Given the description of an element on the screen output the (x, y) to click on. 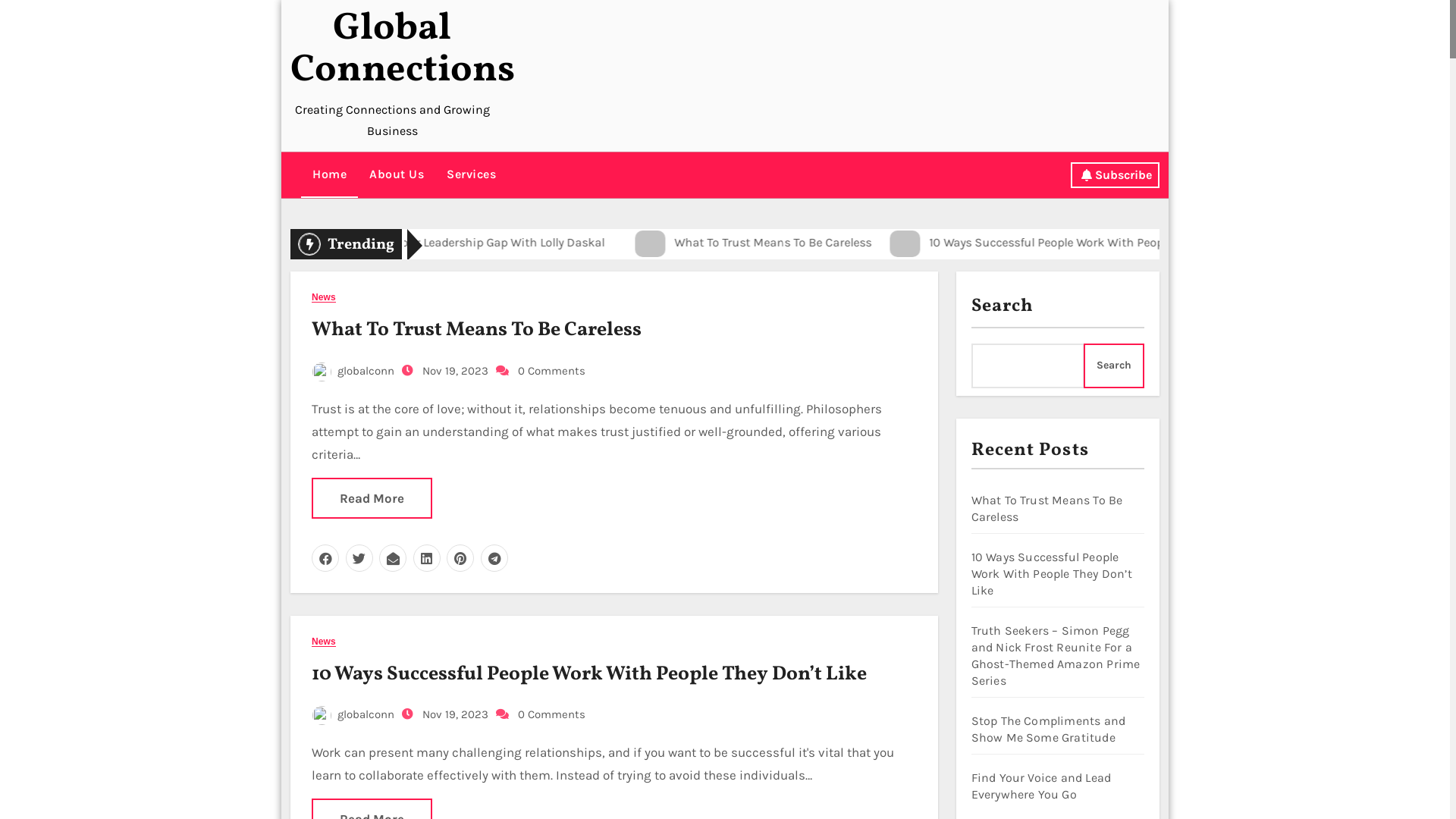
Nov 19, 2023 Element type: text (453, 714)
Global Connections Element type: text (402, 49)
Subscribe Element type: text (1114, 175)
News Element type: text (323, 641)
globalconn Element type: text (352, 714)
Read More Element type: text (371, 497)
25 Tiny Changes That Will Make You a Happier Person Element type: text (475, 242)
7 Small Things Leaders Can Do That Will Go a Long Way Element type: text (831, 242)
Stop The Compliments and Show Me Some Gratitude Element type: text (1047, 728)
Home Element type: text (329, 174)
About Us Element type: text (396, 174)
Nov 19, 2023 Element type: text (453, 370)
What To Trust Means To Be Careless Element type: text (476, 329)
Find Your Voice and Lead Everywhere You Go Element type: text (1040, 785)
Services Element type: text (471, 174)
0 Comments Element type: text (551, 370)
0 Comments Element type: text (551, 714)
News Element type: text (323, 297)
globalconn Element type: text (352, 370)
Search Element type: text (1113, 365)
What To Trust Means To Be Careless Element type: text (1046, 508)
Closing Your Leadership Gap With Lolly Daskal Element type: text (1165, 242)
